Given the description of an element on the screen output the (x, y) to click on. 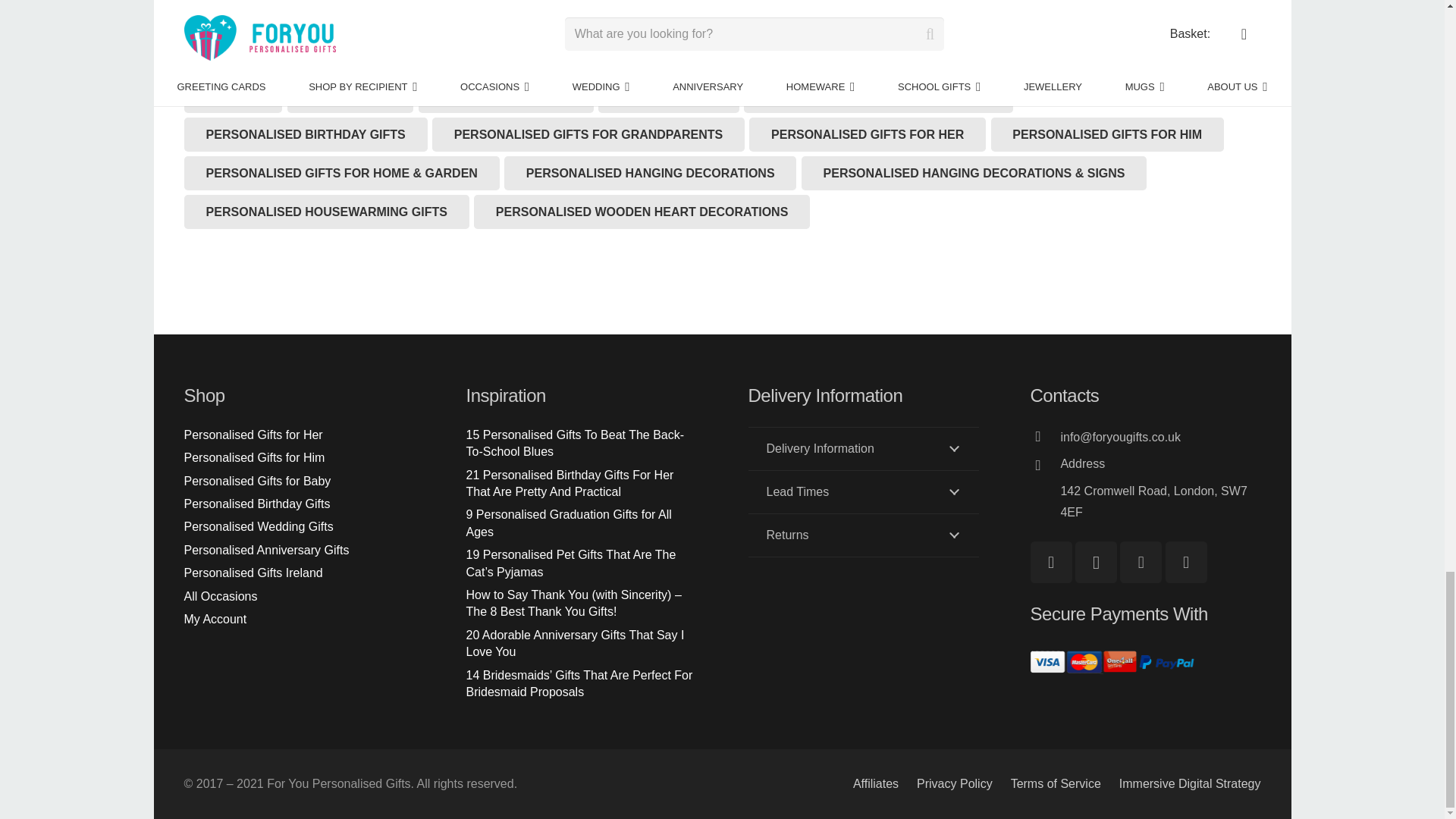
Contact Us (1159, 466)
Facebook (1050, 562)
Contact Us (863, 491)
